Given the description of an element on the screen output the (x, y) to click on. 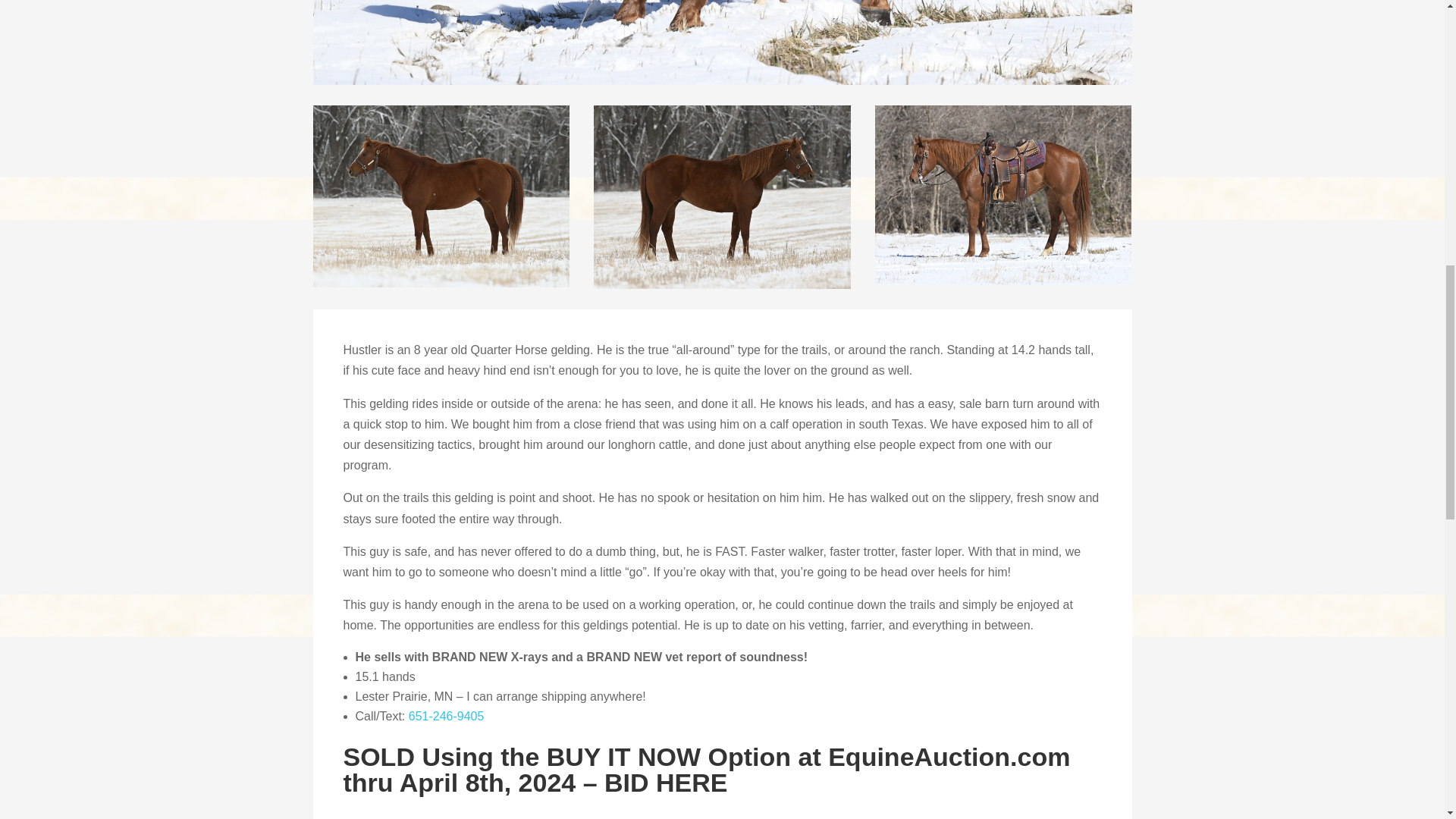
651-246-9405 (446, 716)
Hustler1-scaled (722, 42)
BID HERE (665, 782)
